Given the description of an element on the screen output the (x, y) to click on. 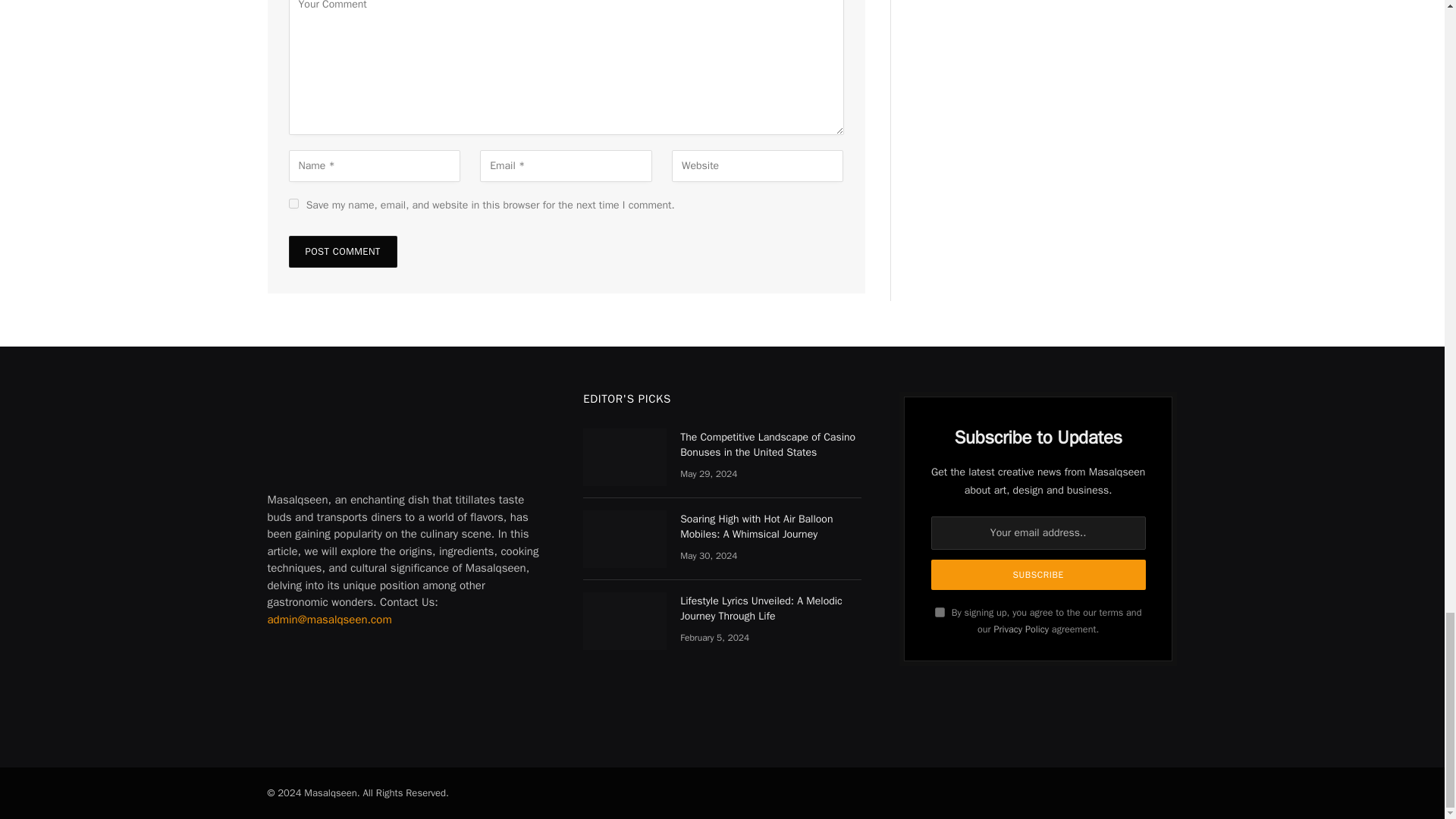
Post Comment (342, 251)
Post Comment (342, 251)
Subscribe (1038, 574)
on (939, 612)
yes (293, 203)
